Given the description of an element on the screen output the (x, y) to click on. 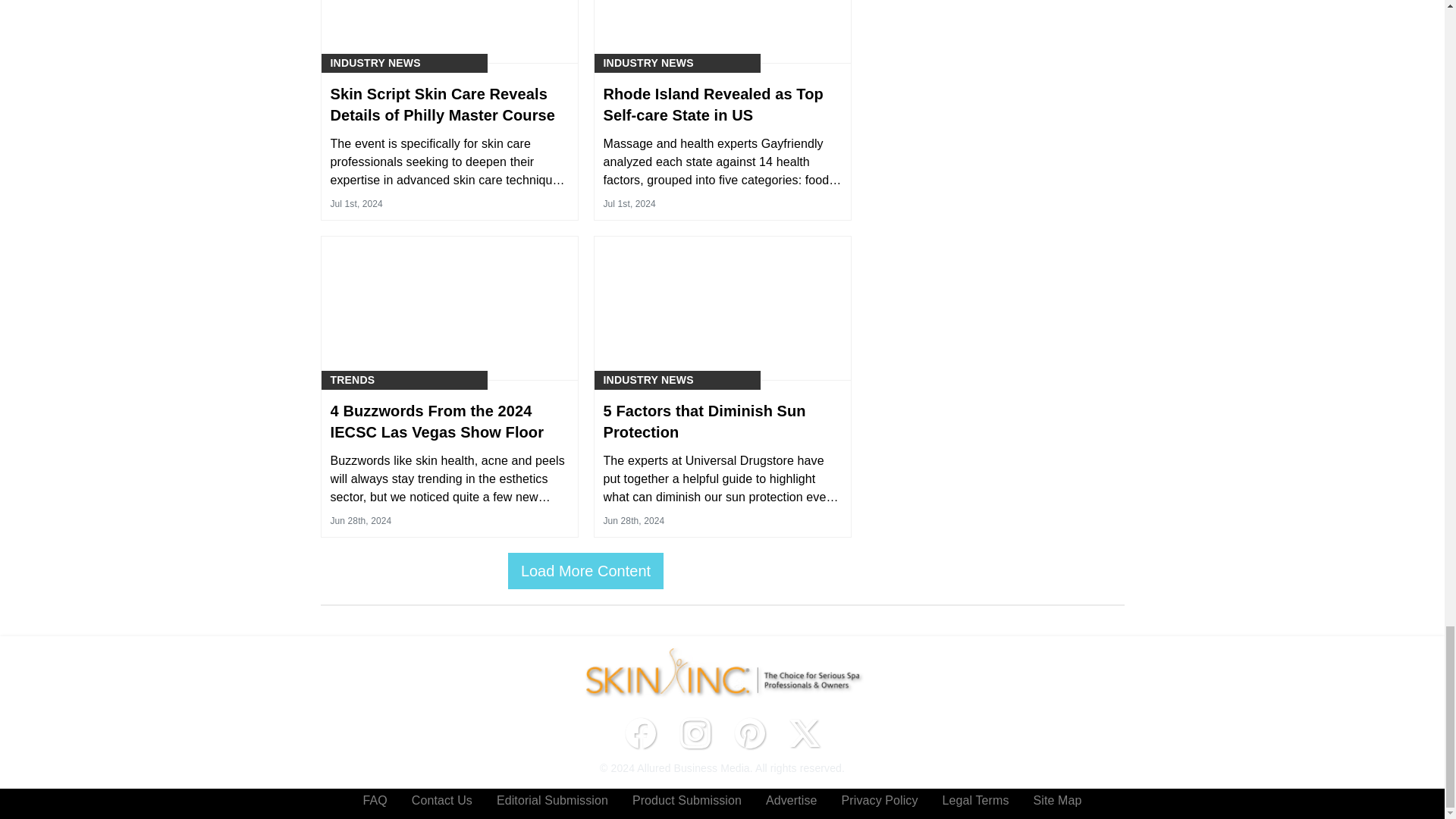
Facebook icon (639, 733)
Instagram icon (694, 733)
Twitter X icon (803, 733)
Pinterest icon (748, 733)
